Given the description of an element on the screen output the (x, y) to click on. 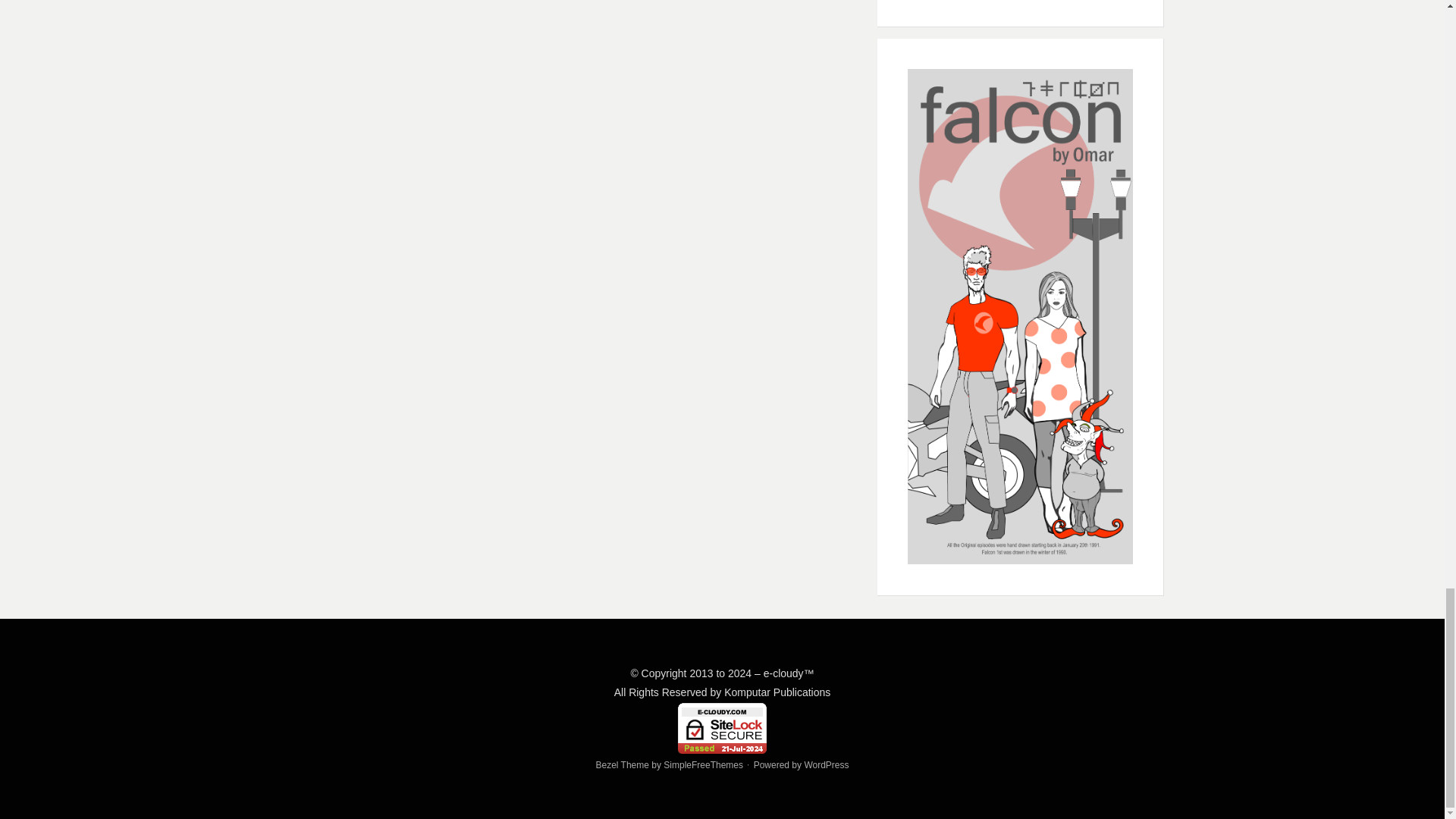
WordPress (825, 765)
SiteLock (722, 727)
SimpleFreeThemes (702, 765)
